Given the description of an element on the screen output the (x, y) to click on. 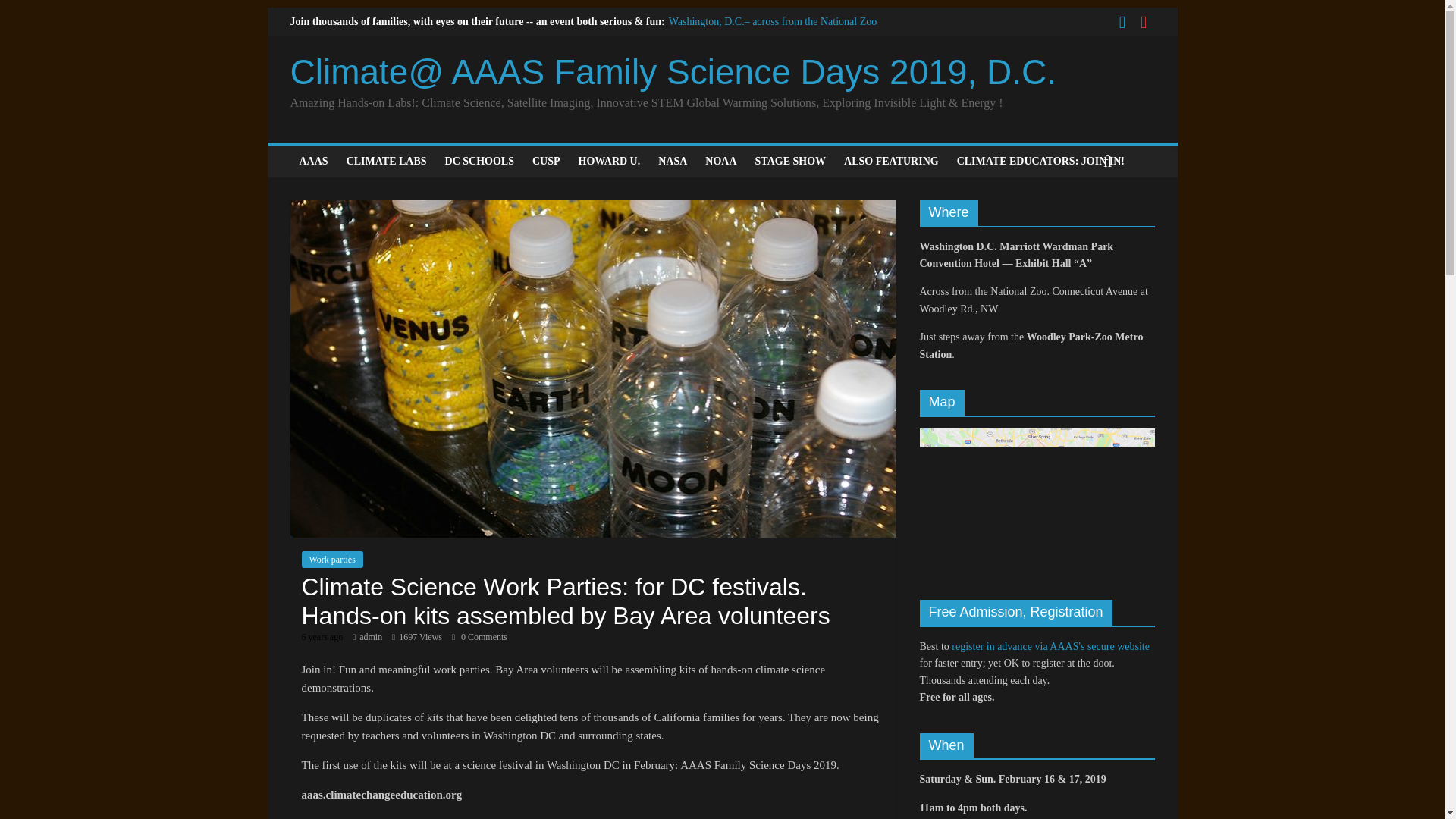
0 Comments (478, 636)
admin (370, 636)
NASA (672, 161)
register in advance via AAAS's secure website (1051, 645)
AAAS (312, 161)
Work parties (331, 559)
admin (370, 636)
DC SCHOOLS (478, 161)
CLIMATE LABS (386, 161)
CLIMATE EDUCATORS: JOIN IN! (1040, 161)
